Given the description of an element on the screen output the (x, y) to click on. 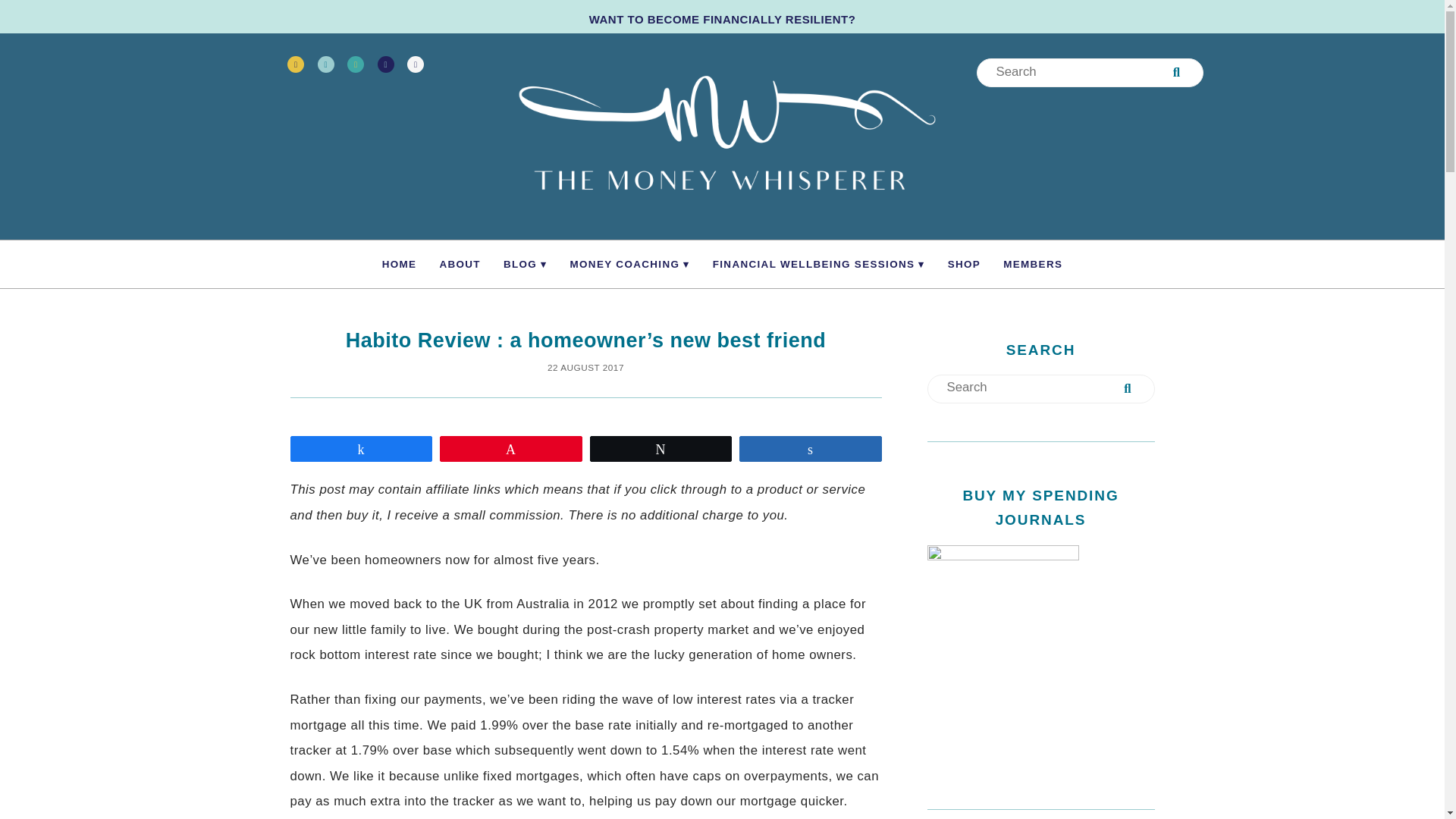
SHOP (963, 264)
BLOG (525, 264)
MONEY COACHING (630, 264)
HOME (399, 264)
FINANCIAL WELLBEING SESSIONS (818, 264)
ABOUT (460, 264)
MEMBERS (1032, 264)
